Given the description of an element on the screen output the (x, y) to click on. 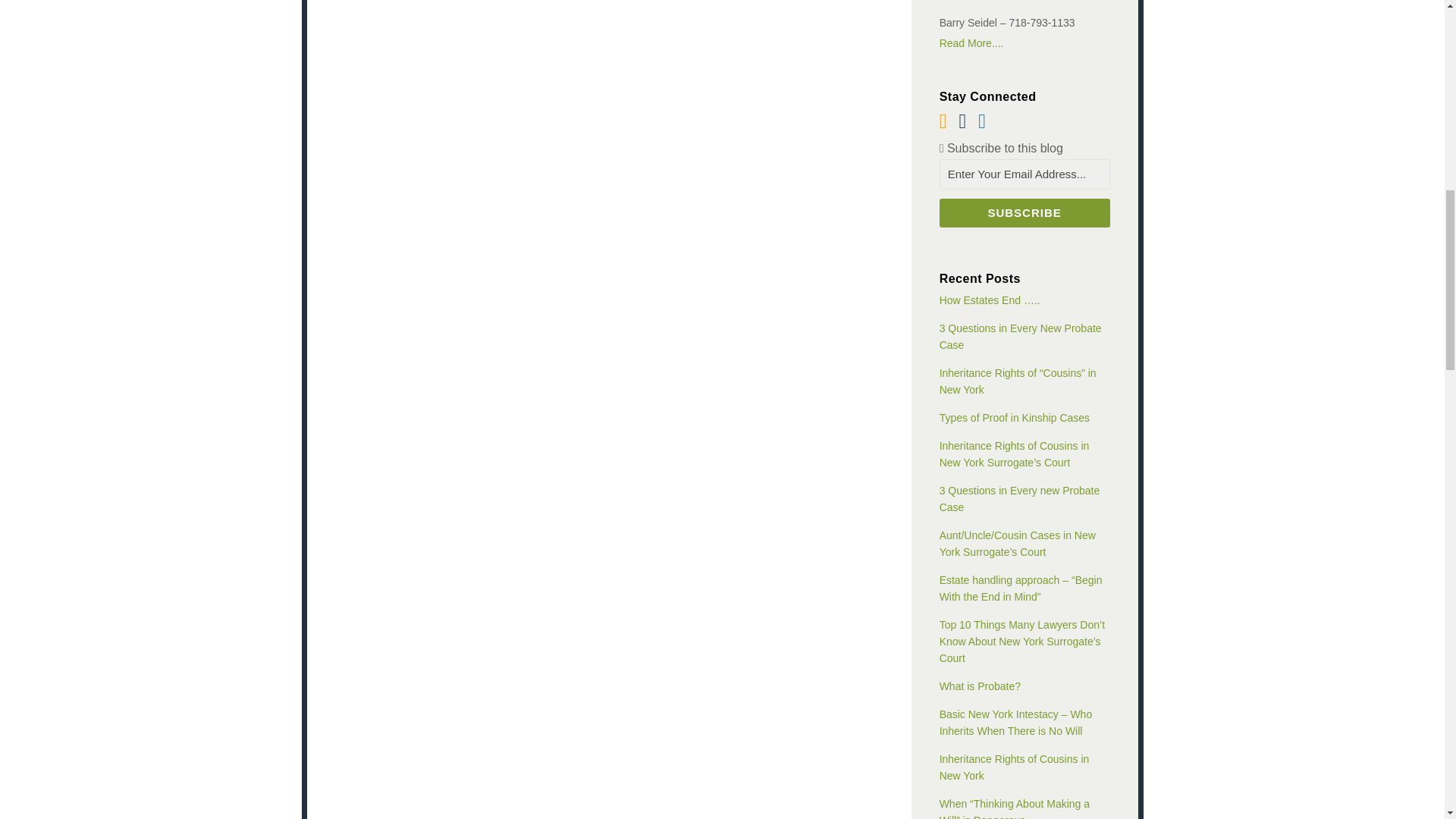
Read More.... (1024, 43)
Types of Proof in Kinship Cases (1014, 417)
Subscribe (1024, 213)
Inheritance Rights of Cousins in New York (1014, 767)
Subscribe (1024, 213)
3 Questions in Every new Probate Case (1019, 498)
3 Questions in Every New Probate Case (1020, 336)
What is Probate? (979, 686)
